Given the description of an element on the screen output the (x, y) to click on. 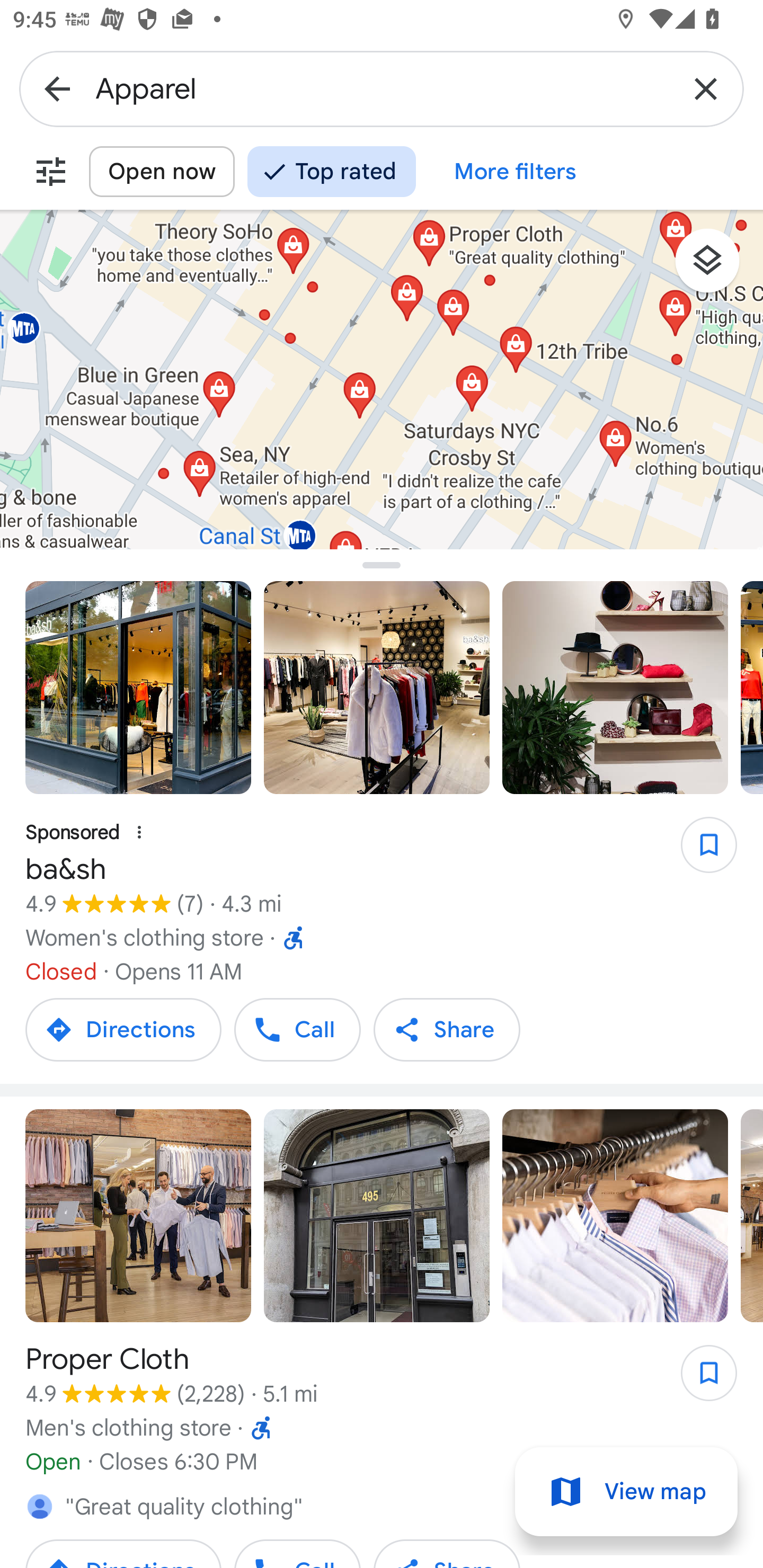
Back (57, 88)
Apparel (381, 88)
Clear (705, 88)
More filters (50, 171)
Open now Open now Open now (162, 171)
Top rated Top rated Top rated (331, 171)
More filters More filters More filters (515, 171)
Layers (716, 267)
Photo (138, 687)
Photo (376, 687)
Photo (614, 687)
About this ad (139, 832)
Save ba&sh to lists (699, 851)
Share ba&sh Share Share ba&sh (446, 1028)
Photo (138, 1214)
Photo (376, 1214)
Photo (614, 1214)
Save Proper Cloth to lists (699, 1378)
View map Map view (626, 1491)
